Given the description of an element on the screen output the (x, y) to click on. 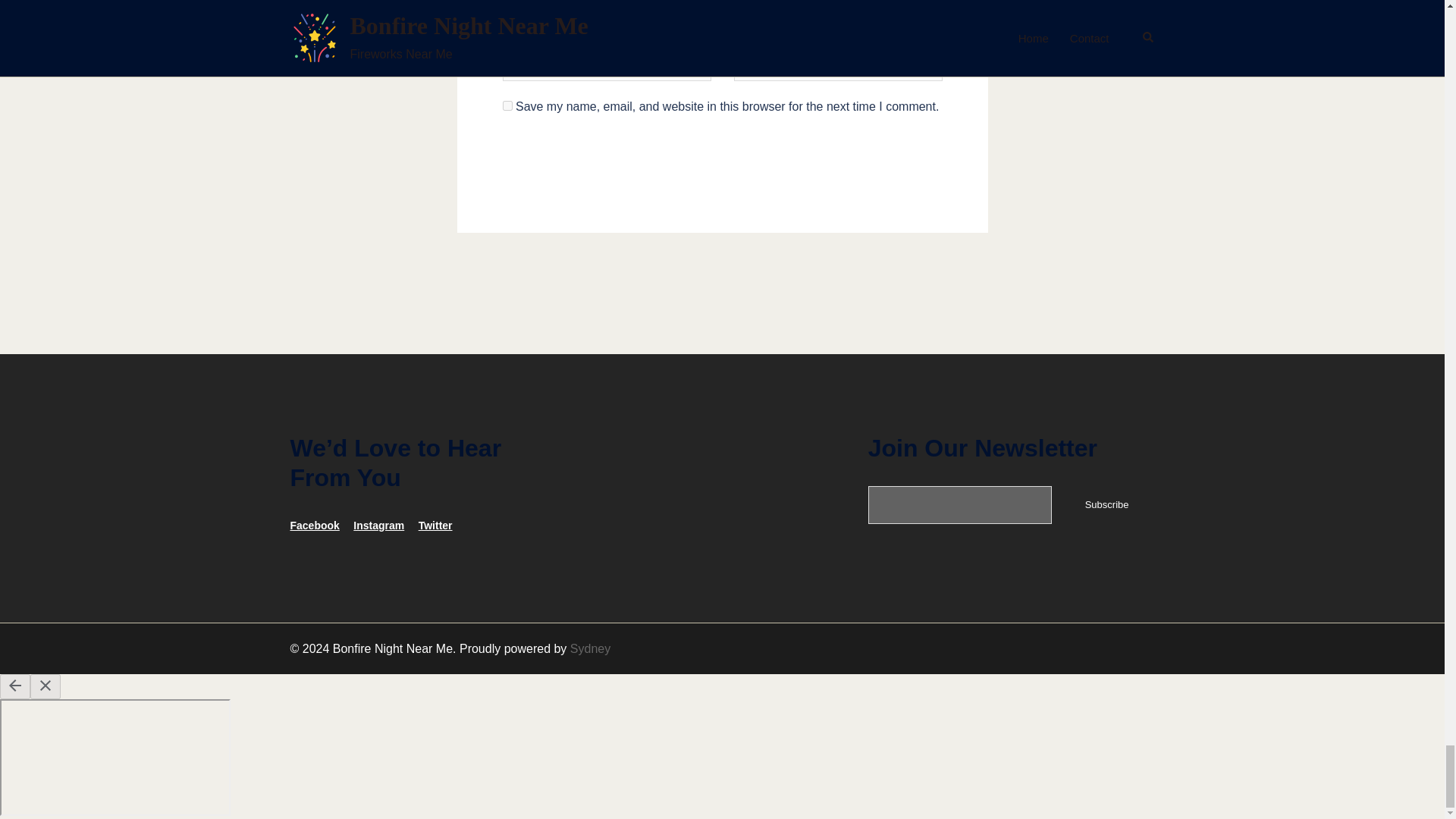
Post Comment (722, 168)
yes (507, 105)
